Given the description of an element on the screen output the (x, y) to click on. 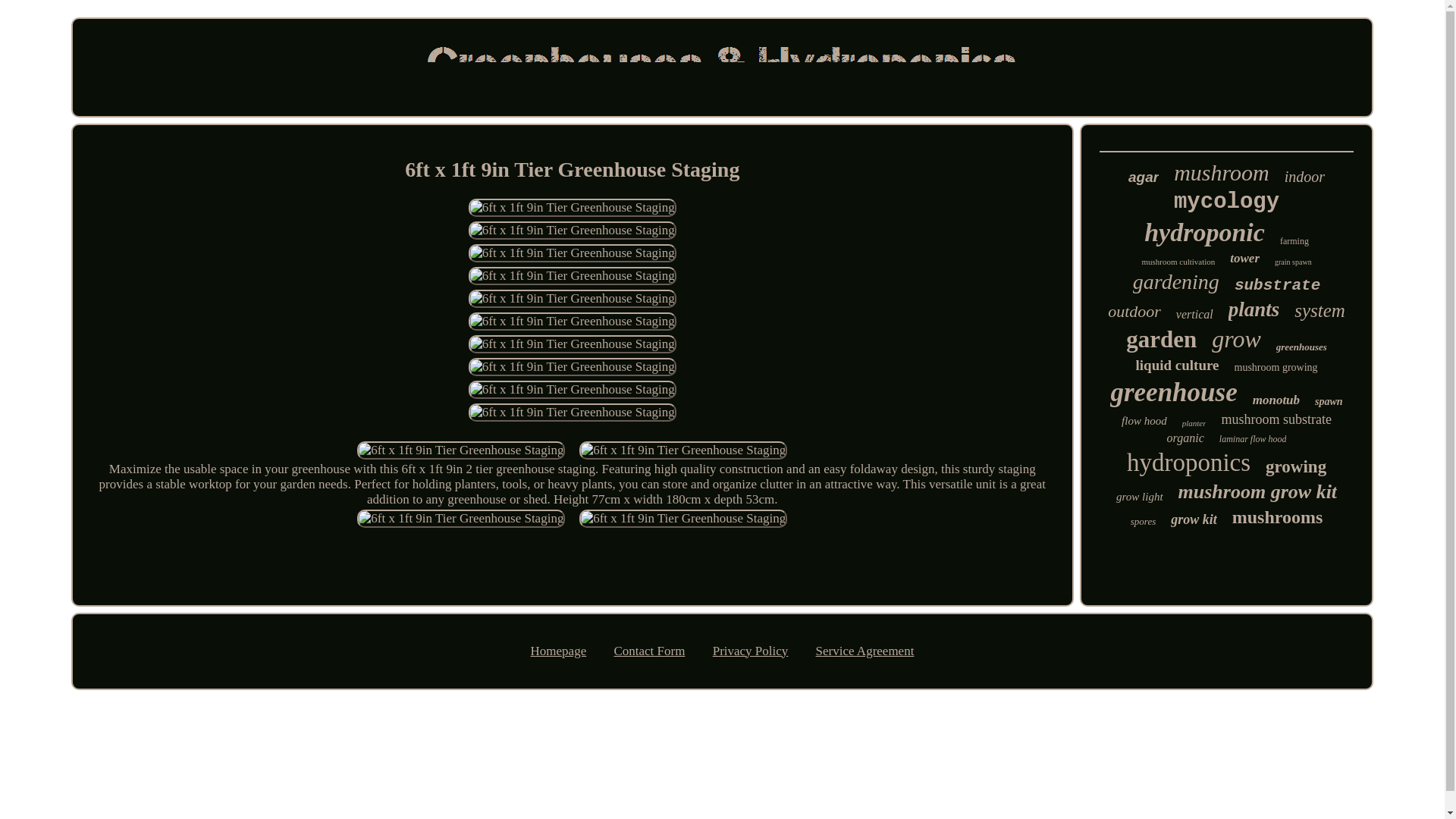
organic (1185, 438)
farming (1293, 241)
6ft x 1ft 9in Tier Greenhouse Staging (572, 298)
6ft x 1ft 9in Tier Greenhouse Staging (572, 412)
6ft x 1ft 9in Tier Greenhouse Staging (572, 275)
6ft x 1ft 9in Tier Greenhouse Staging (572, 230)
6ft x 1ft 9in Tier Greenhouse Staging (572, 366)
mushroom cultivation (1177, 261)
6ft x 1ft 9in Tier Greenhouse Staging (572, 321)
liquid culture (1177, 365)
